Given the description of an element on the screen output the (x, y) to click on. 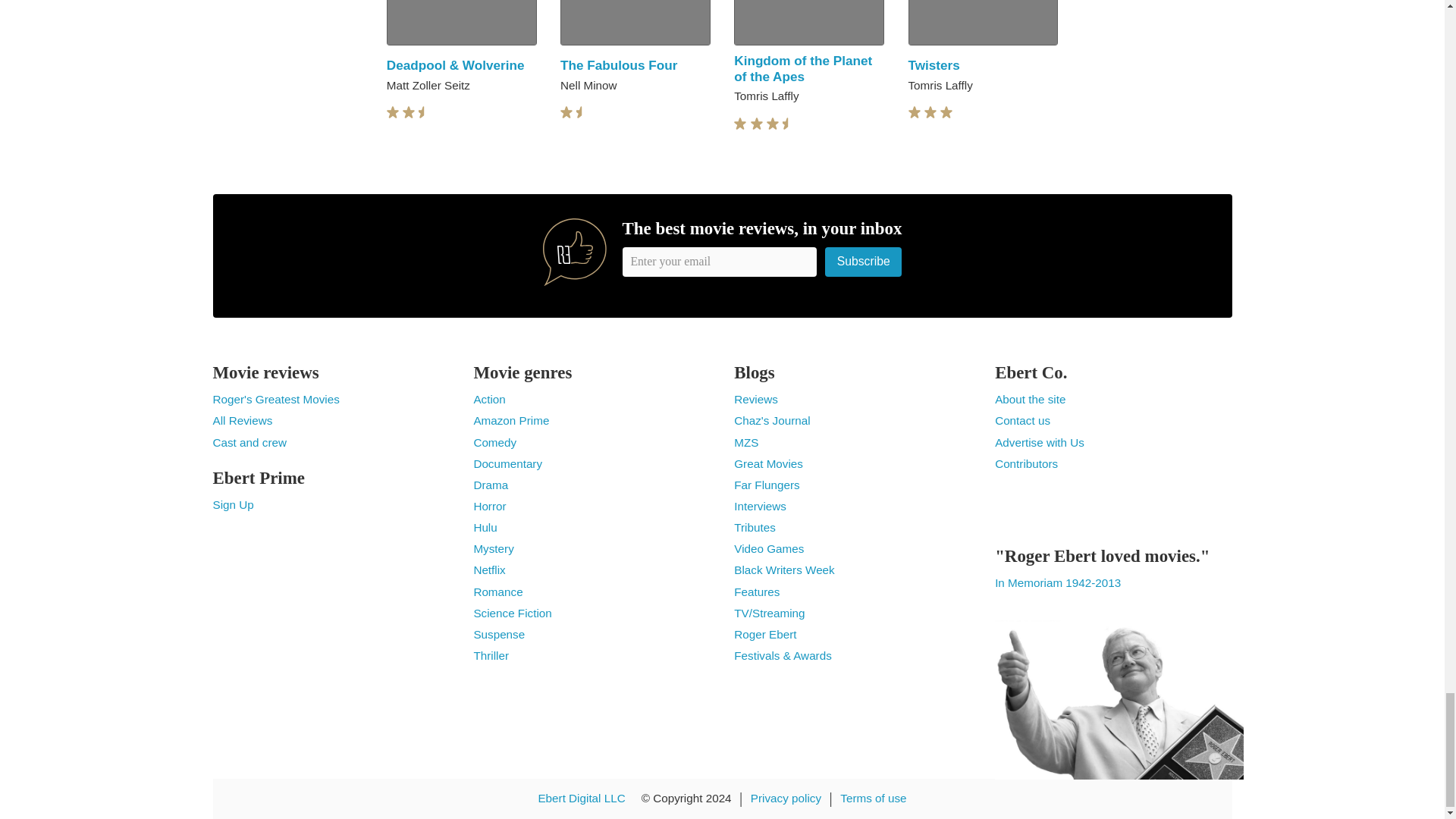
Subscribe (863, 261)
